Given the description of an element on the screen output the (x, y) to click on. 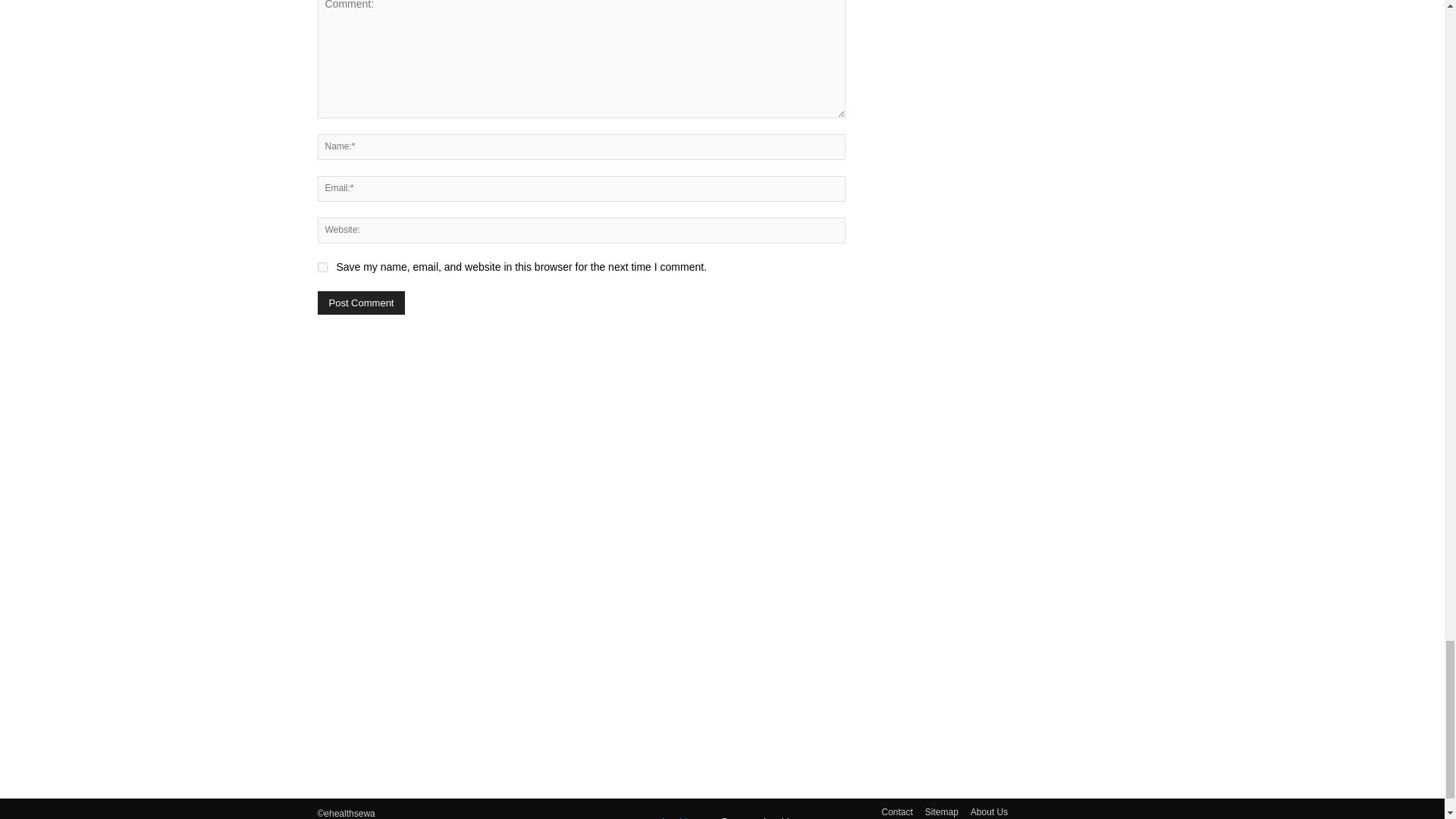
Post Comment (360, 302)
yes (321, 266)
